Given the description of an element on the screen output the (x, y) to click on. 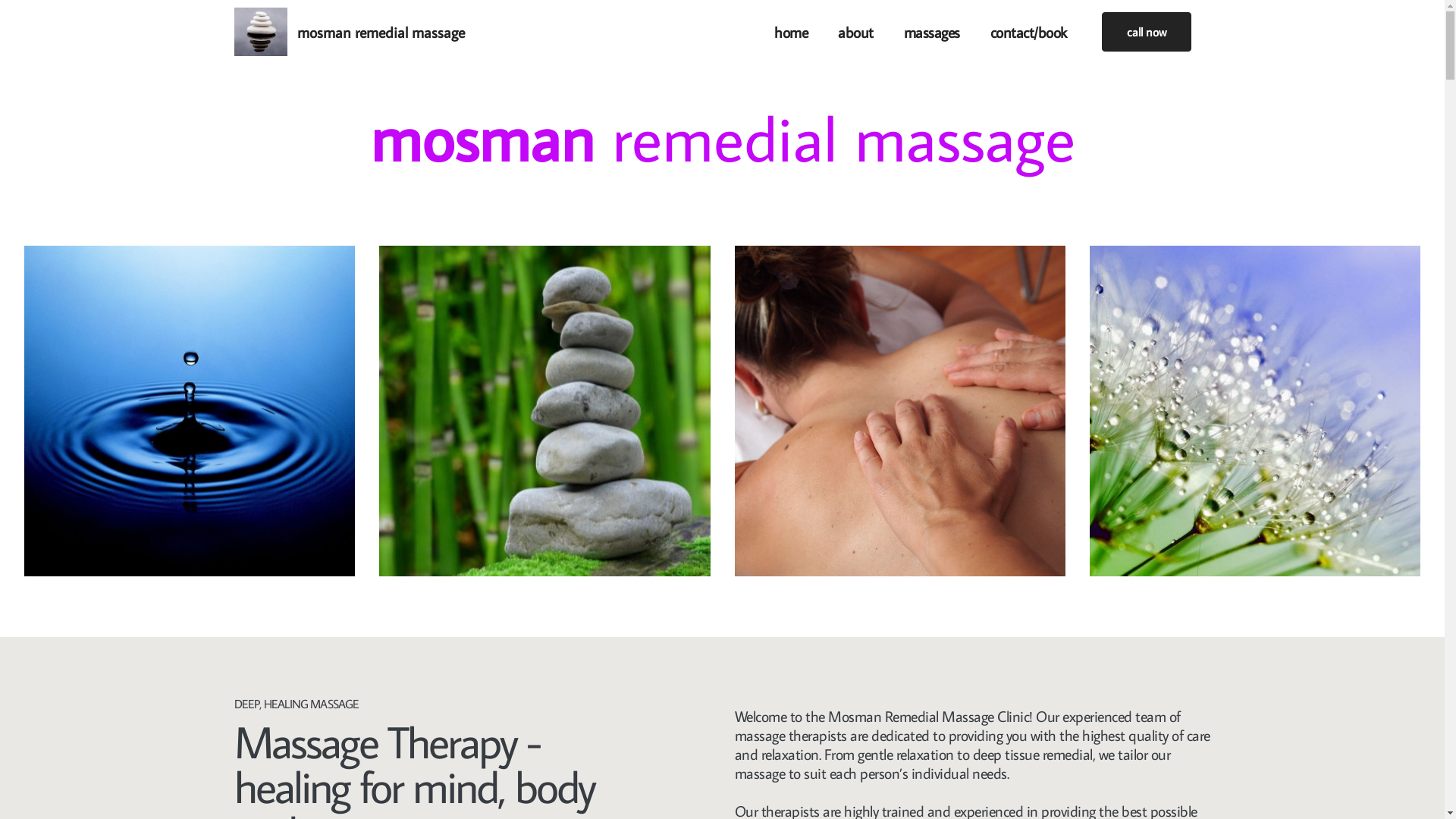
massages Element type: text (931, 31)
call now Element type: text (1145, 31)
mosman remedial massage Element type: text (380, 31)
contact/book Element type: text (1028, 31)
home Element type: text (790, 31)
about Element type: text (855, 31)
